Given the description of an element on the screen output the (x, y) to click on. 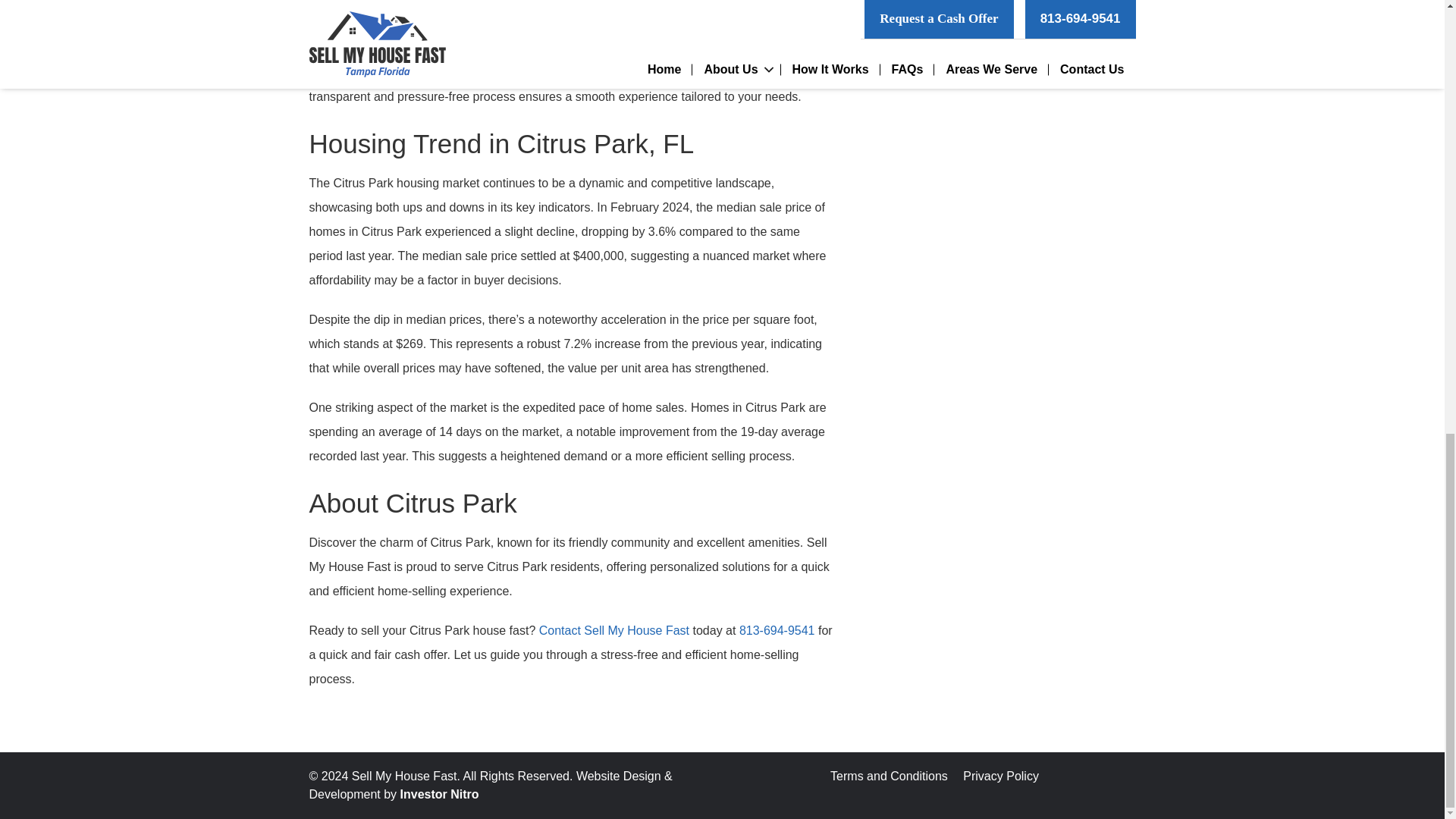
813-694-9541 (777, 630)
Contact Sell My House Fast (613, 630)
Selling your Citrus Park home (389, 47)
Privacy Policy (1000, 775)
Investor Nitro (439, 793)
Terms and Conditions (888, 775)
